Given the description of an element on the screen output the (x, y) to click on. 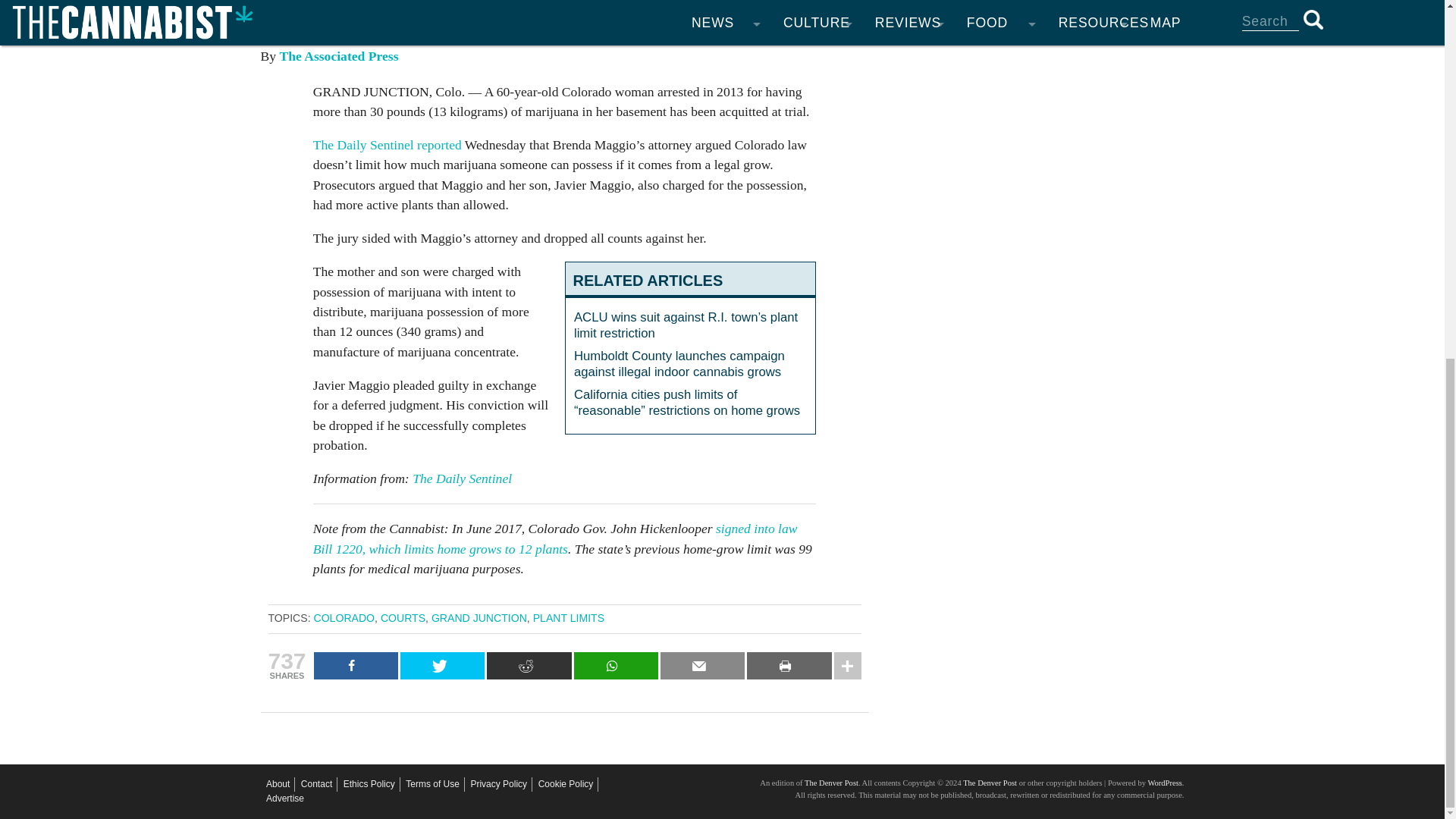
The Denver Post (989, 782)
Denver Post Ethics Policy (368, 784)
Personal Publishing Platform (1163, 782)
The Denver Post (832, 782)
Advertise on The Cannabist (285, 798)
Denver Post Privacy Policy (498, 784)
Denver Post Terms of Use (433, 784)
Contact The Cannabist (316, 784)
About The Cannabist (277, 784)
